Given the description of an element on the screen output the (x, y) to click on. 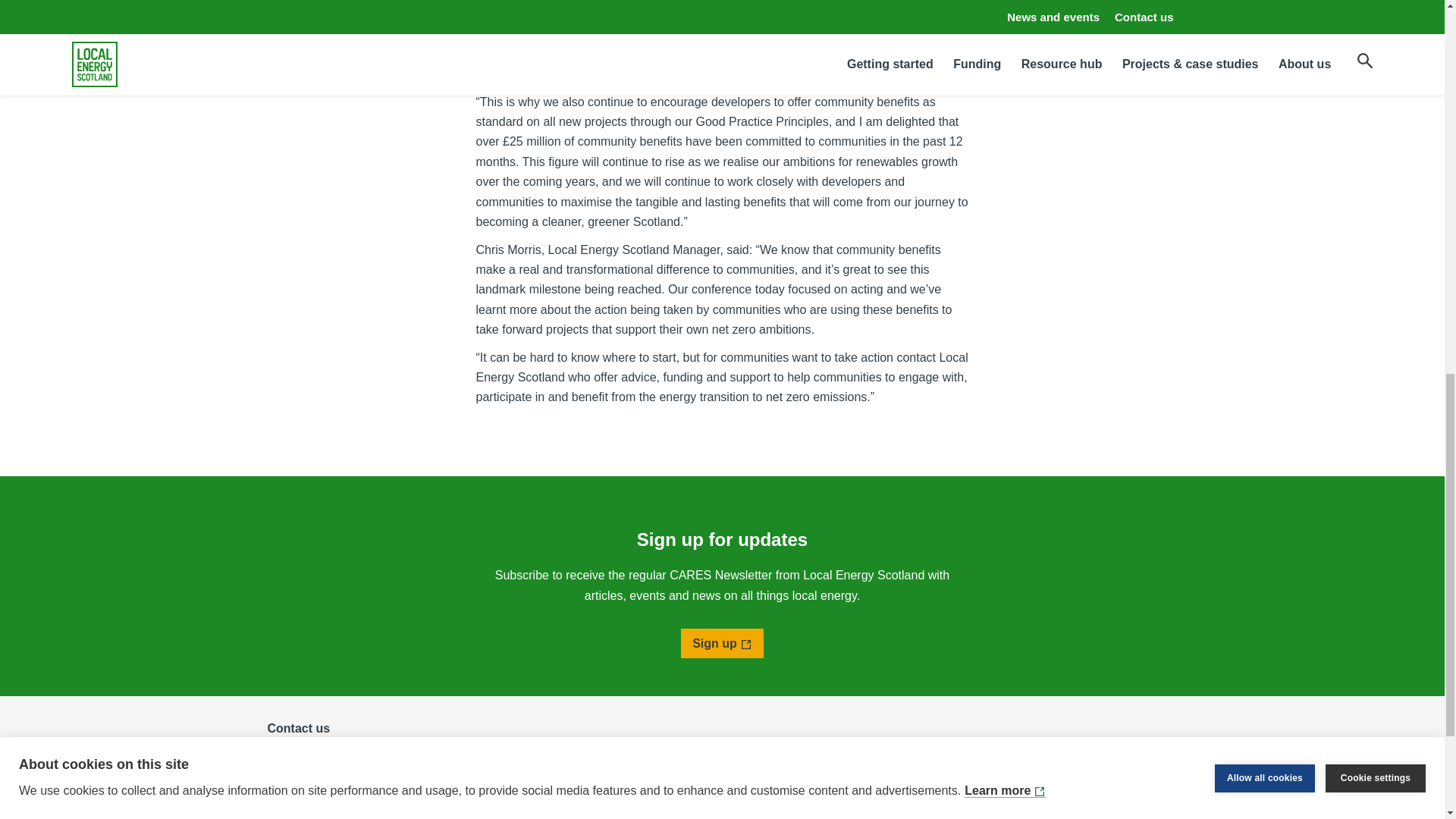
Allow all cookies (1264, 8)
Cookie settings (1374, 3)
Learn more (1004, 35)
